Given the description of an element on the screen output the (x, y) to click on. 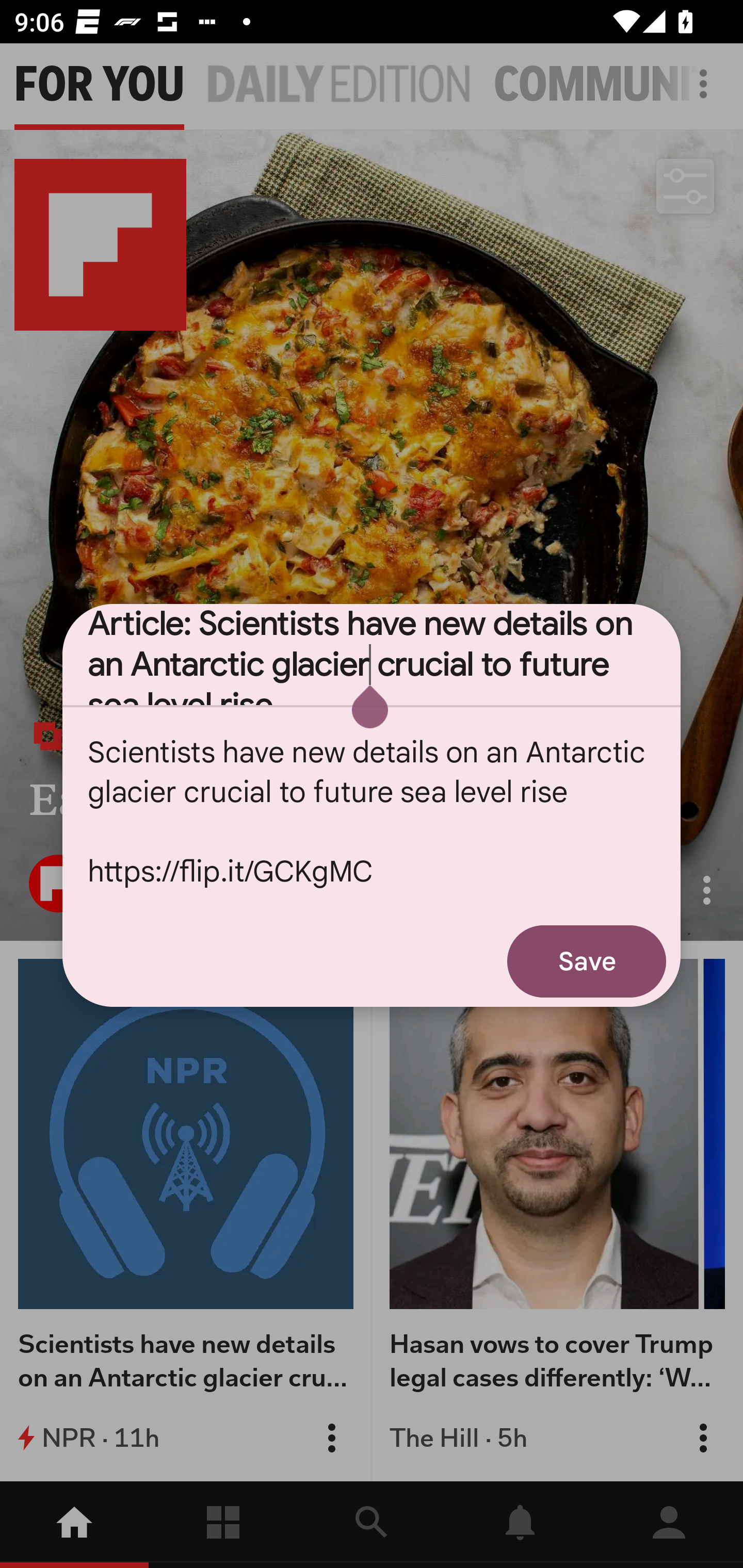
Save (586, 961)
